Given the description of an element on the screen output the (x, y) to click on. 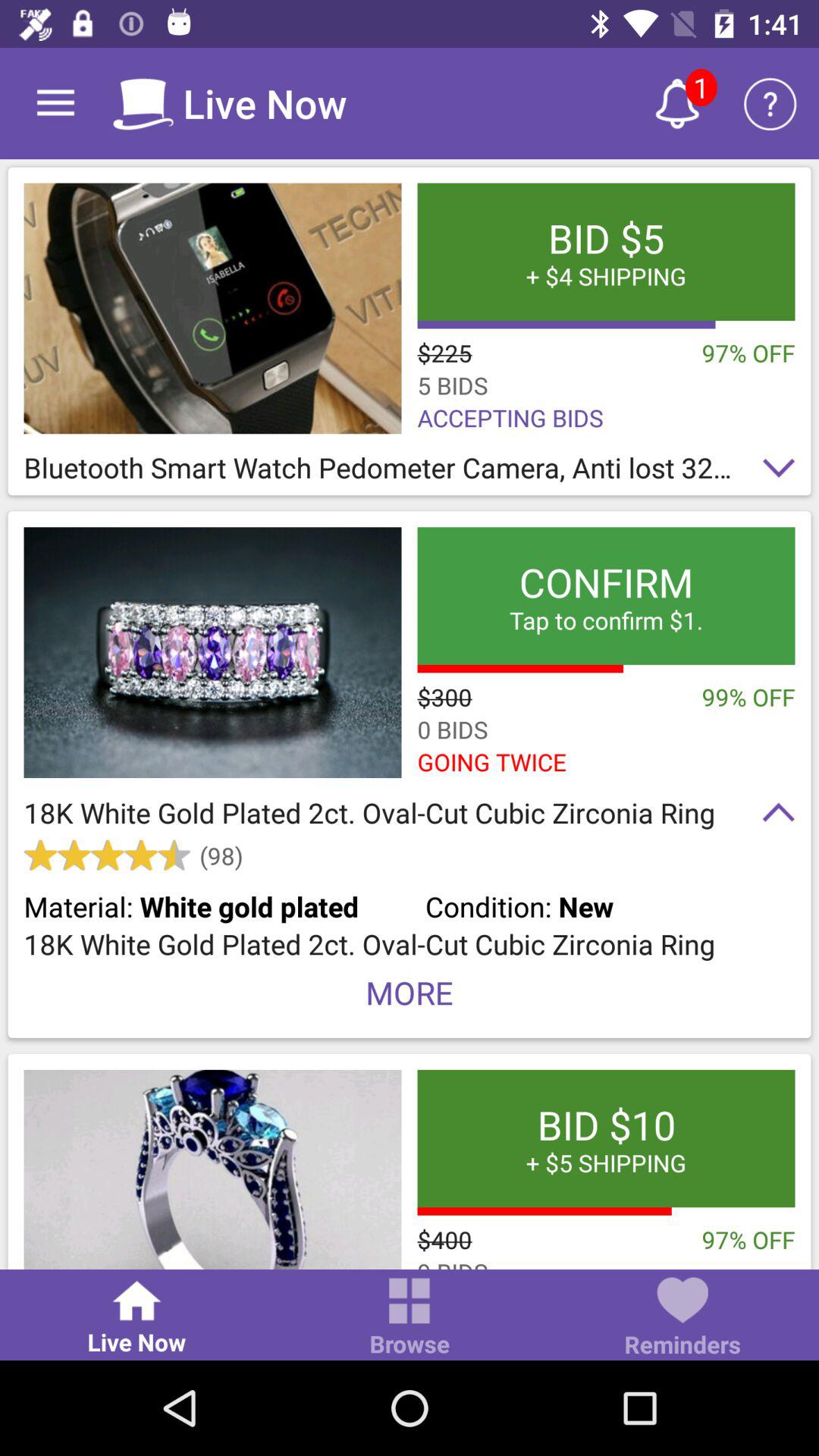
scroll to bluetooth smart watch (409, 472)
